Given the description of an element on the screen output the (x, y) to click on. 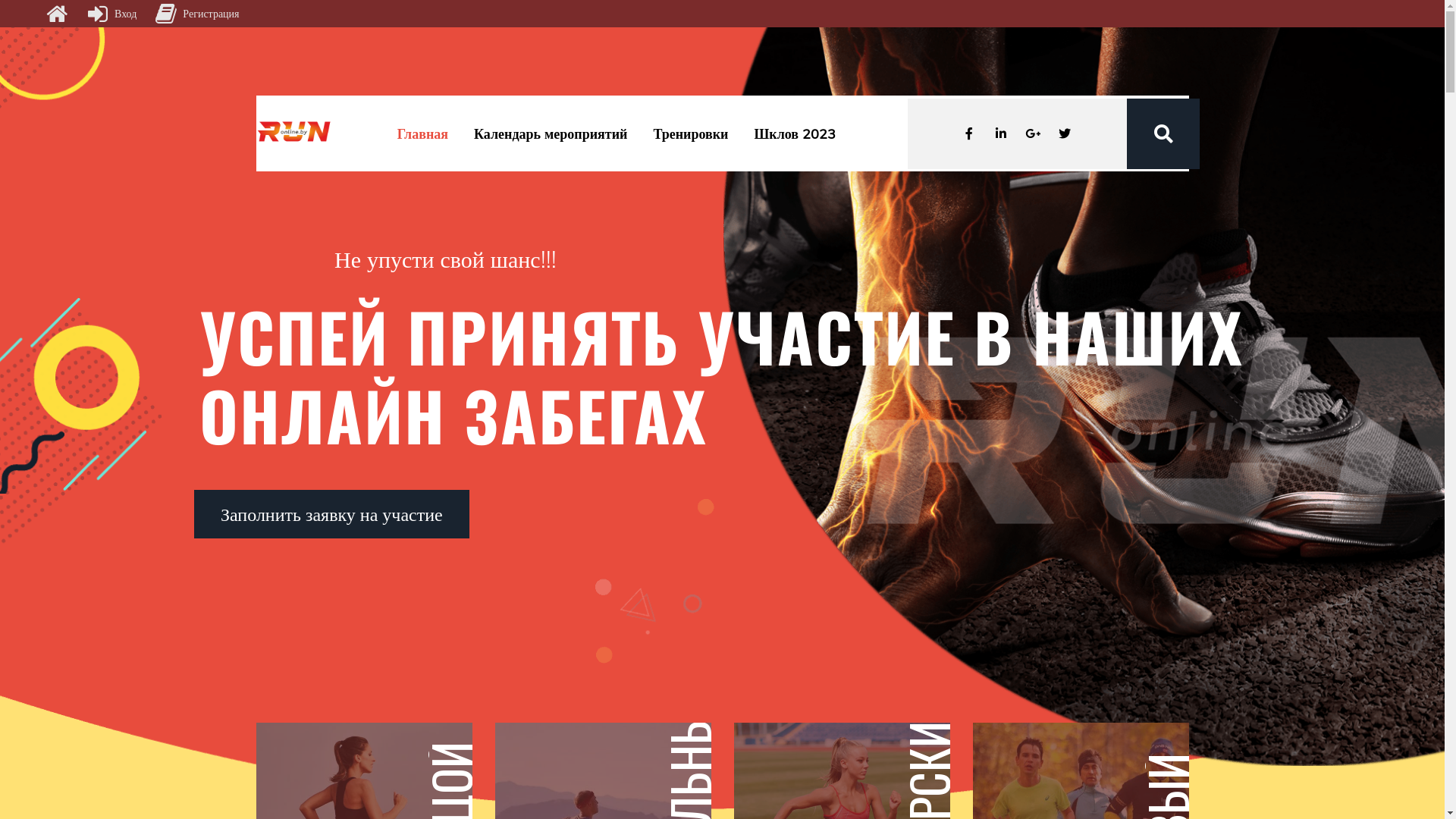
Twitter Element type: text (1064, 133)
Facebook Element type: text (968, 133)
Pinterest Element type: text (1032, 133)
Linkedin Element type: text (1000, 133)
